Given the description of an element on the screen output the (x, y) to click on. 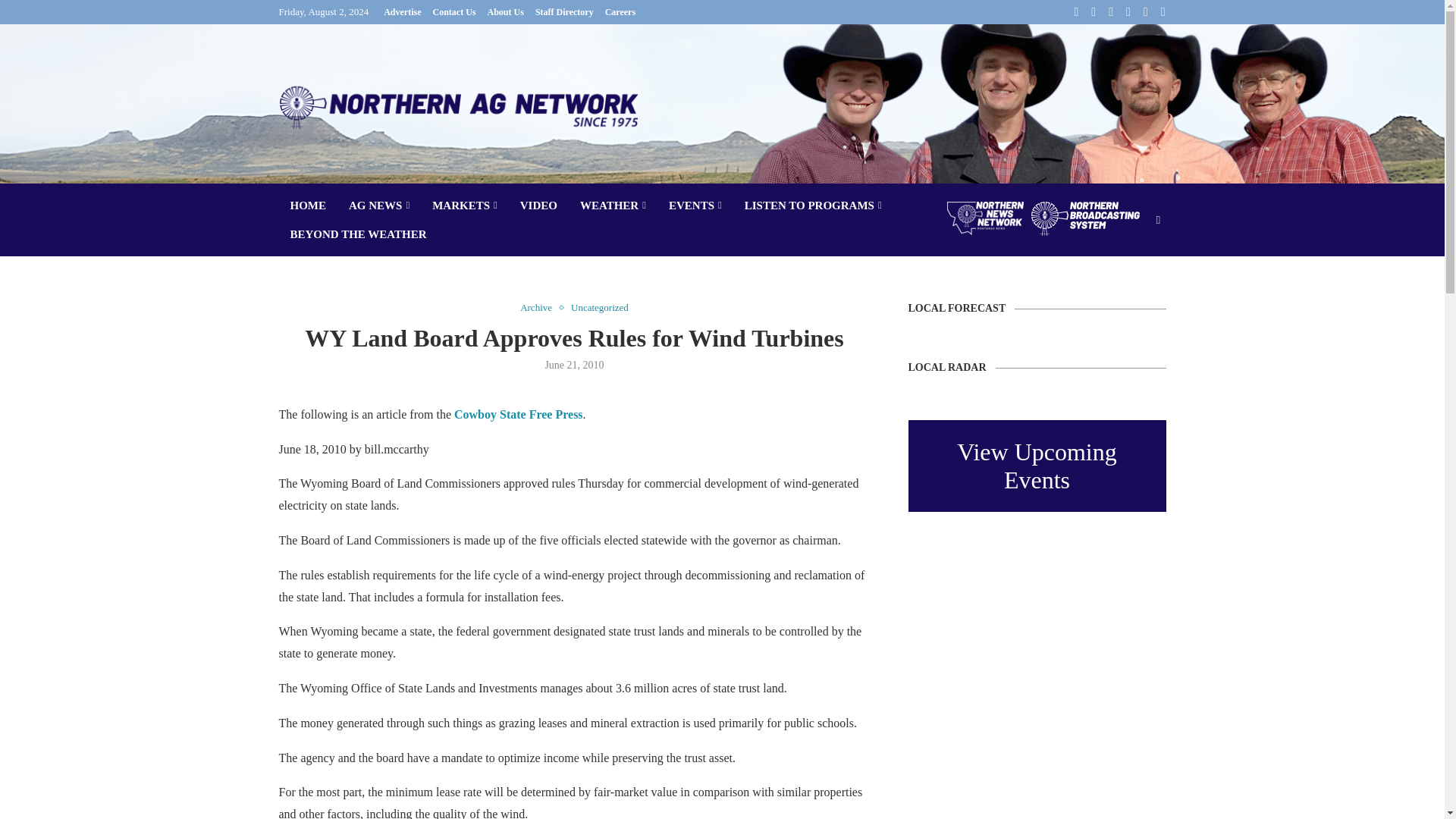
Advertise (402, 12)
About Us (505, 12)
Careers (619, 12)
Contact Us (454, 12)
Staff Directory (564, 12)
